Given the description of an element on the screen output the (x, y) to click on. 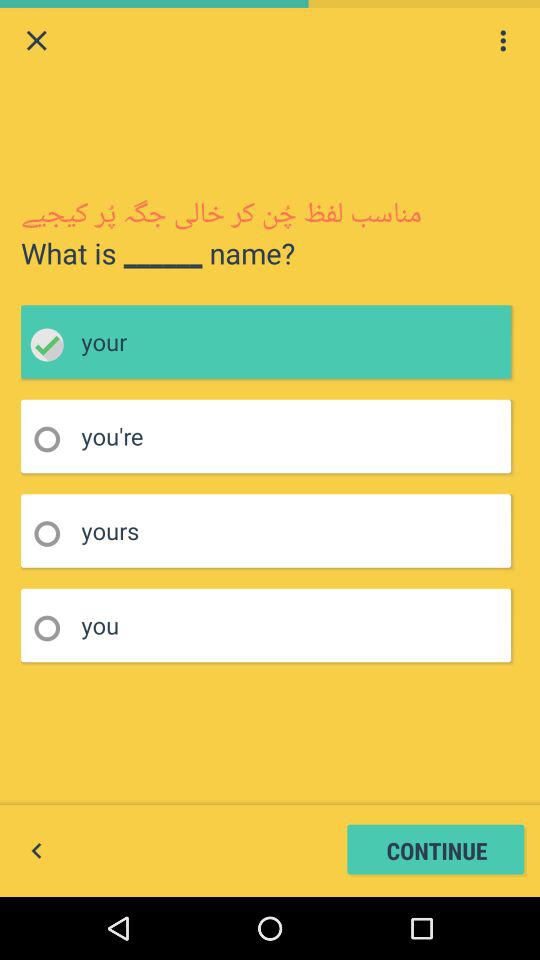
shows mark place option (53, 439)
